Given the description of an element on the screen output the (x, y) to click on. 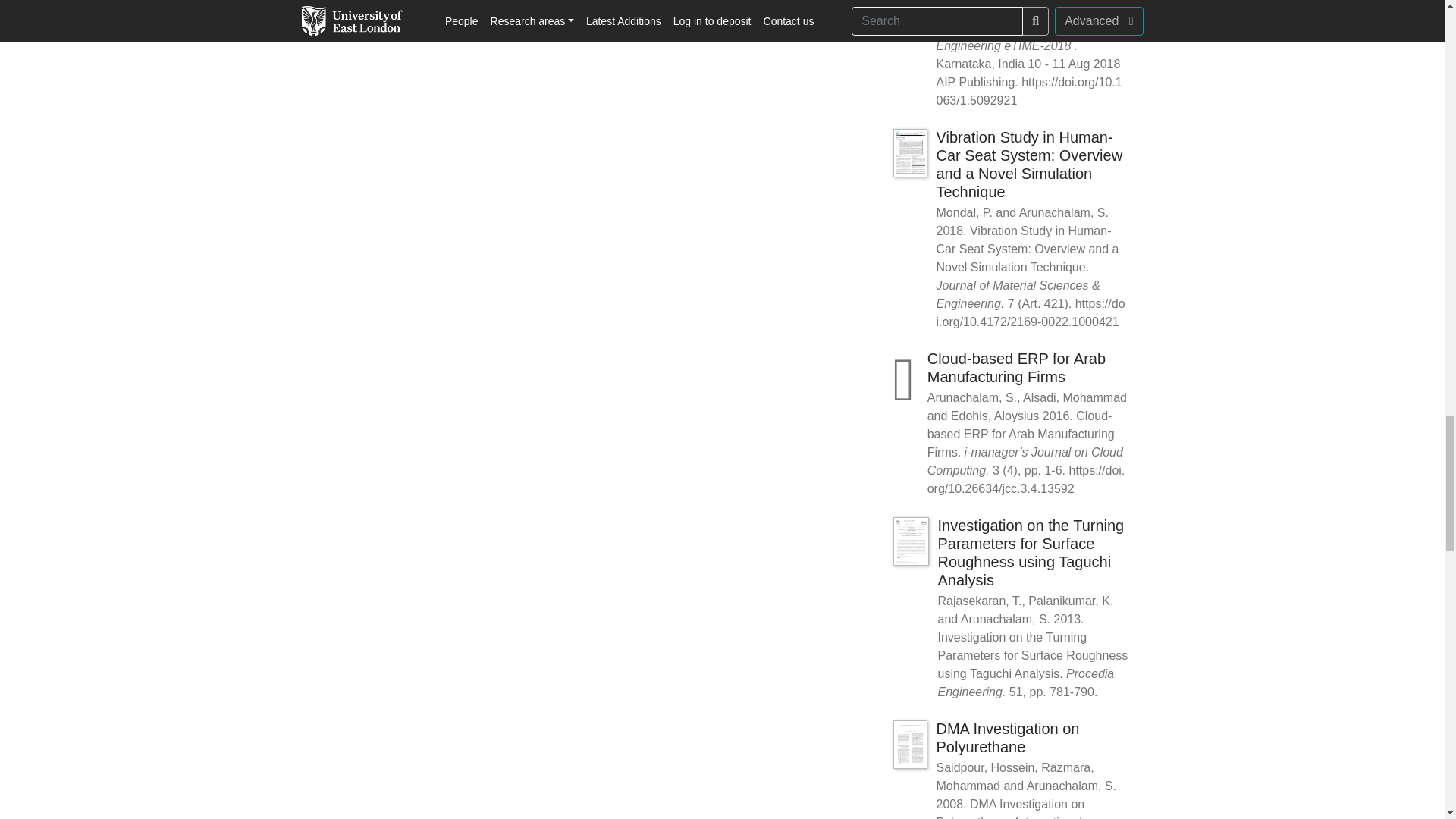
Cloud-based ERP for Arab Manufacturing Firms (1016, 367)
DMA Investigation on Polyurethane (1007, 737)
